Given the description of an element on the screen output the (x, y) to click on. 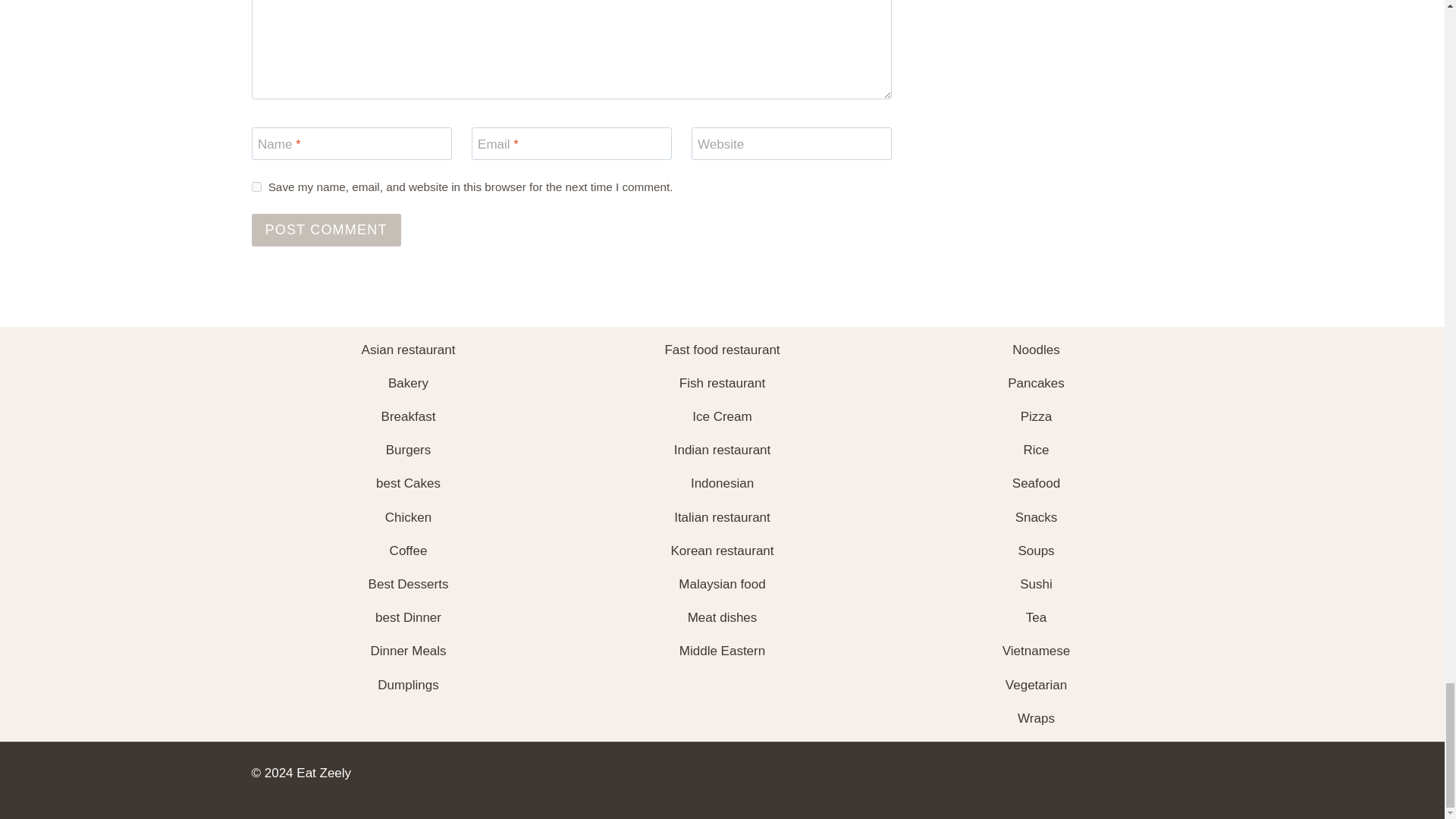
Post Comment (326, 229)
yes (256, 186)
